Given the description of an element on the screen output the (x, y) to click on. 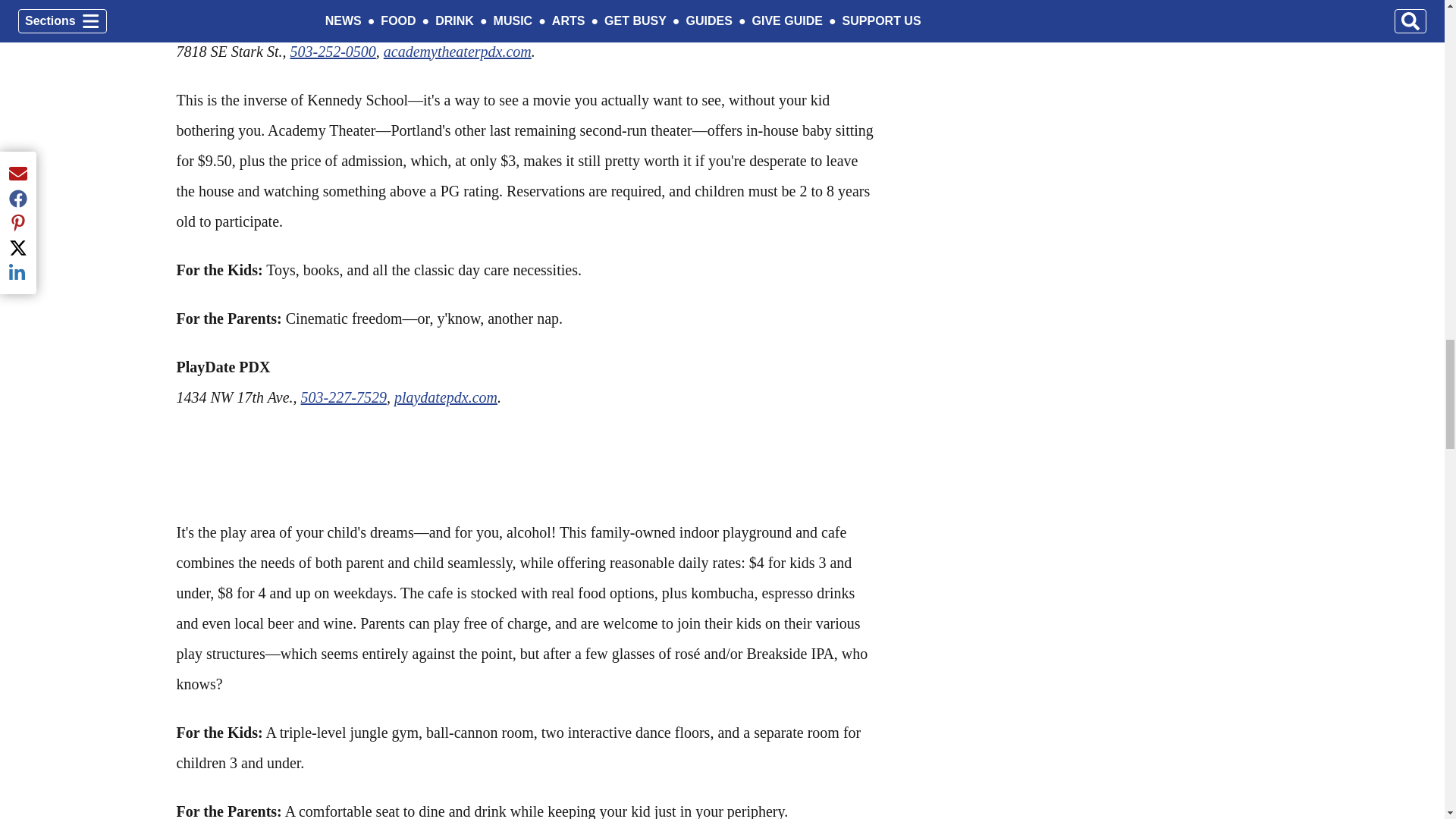
503-252-0500 (332, 51)
academytheaterpdx.com (457, 51)
503-227-7529 (344, 397)
playdatepdx.com (445, 397)
